Given the description of an element on the screen output the (x, y) to click on. 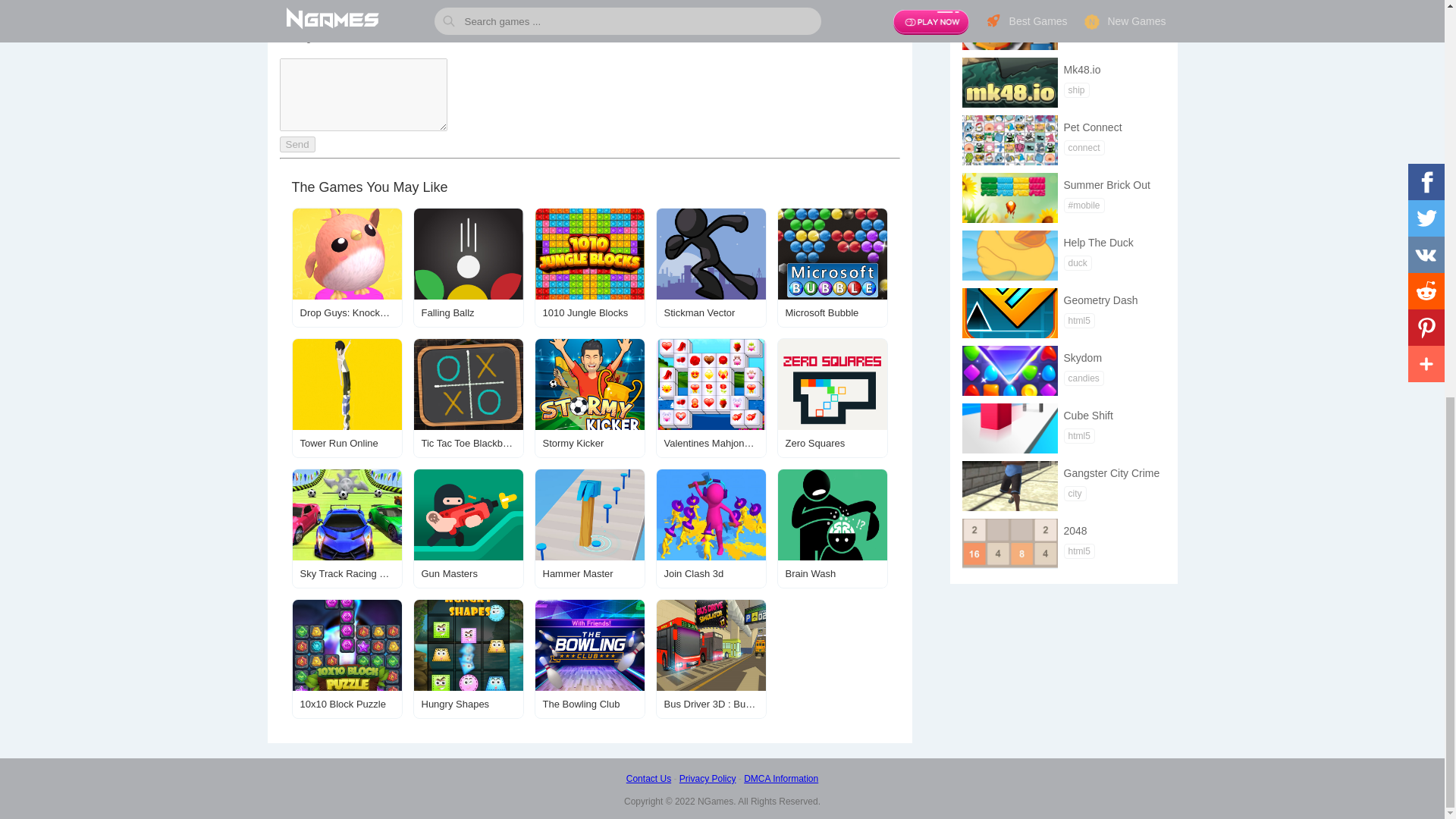
Stormy Kicker (589, 397)
Falling Ballz (467, 267)
Send (296, 144)
Stickman Vector (710, 267)
Hungry Shapes (467, 658)
Gun Masters (467, 528)
Hammer Master (589, 528)
Microsoft Bubble (831, 267)
Join Clash 3d (710, 528)
Stickman Vector (710, 267)
Zero Squares (831, 397)
Drop Guys: Knockout Tournament (346, 267)
Brain Wash (831, 528)
Valentines Mahjong Deluxe (710, 397)
Stormy Kicker (589, 397)
